Given the description of an element on the screen output the (x, y) to click on. 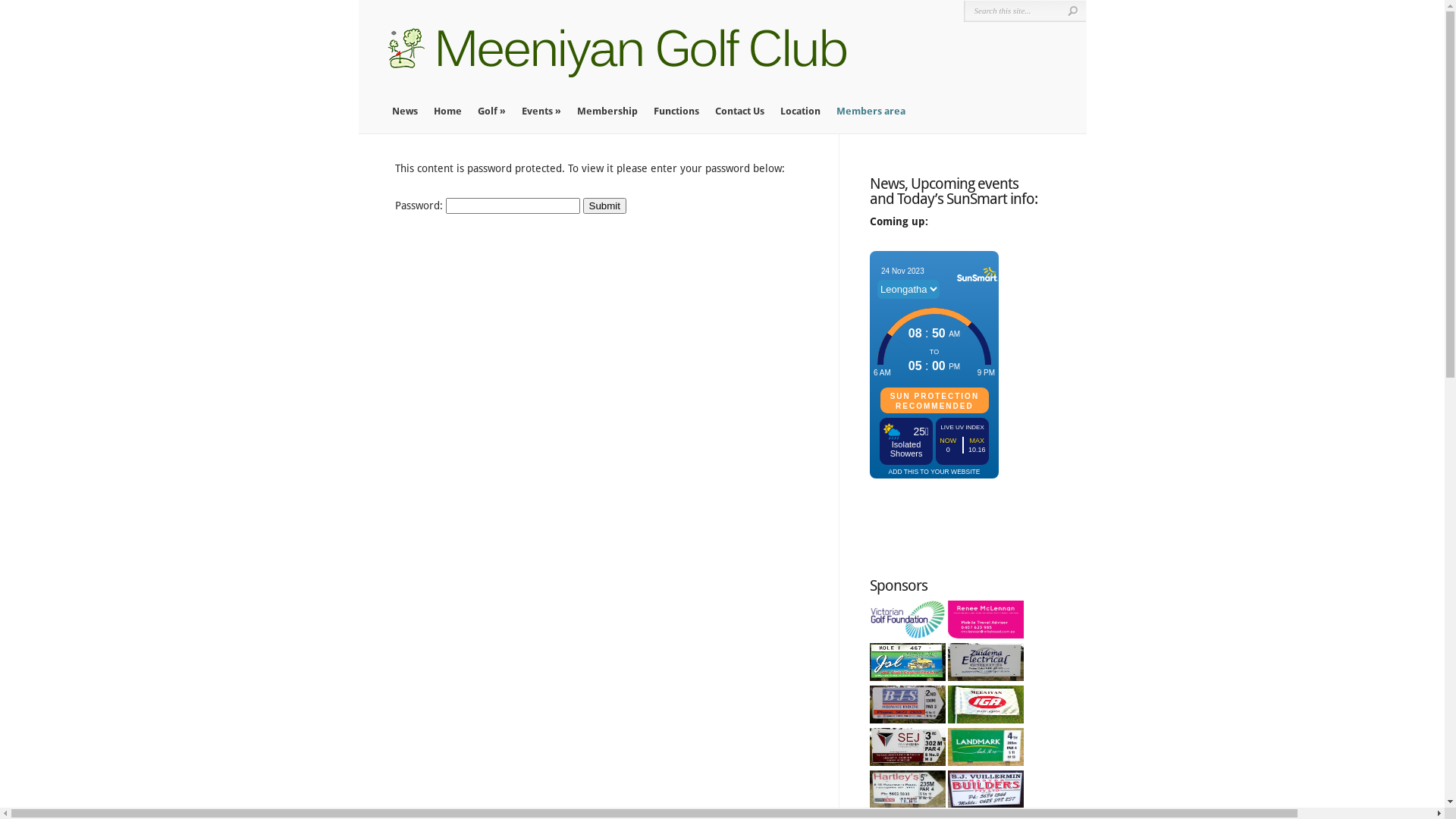
Functions Element type: text (676, 111)
Contact Us Element type: text (738, 111)
Location Element type: text (799, 111)
Submit Element type: text (603, 205)
News Element type: text (404, 111)
Home Element type: text (447, 111)
Membership Element type: text (606, 111)
Members area Element type: text (869, 111)
